Given the description of an element on the screen output the (x, y) to click on. 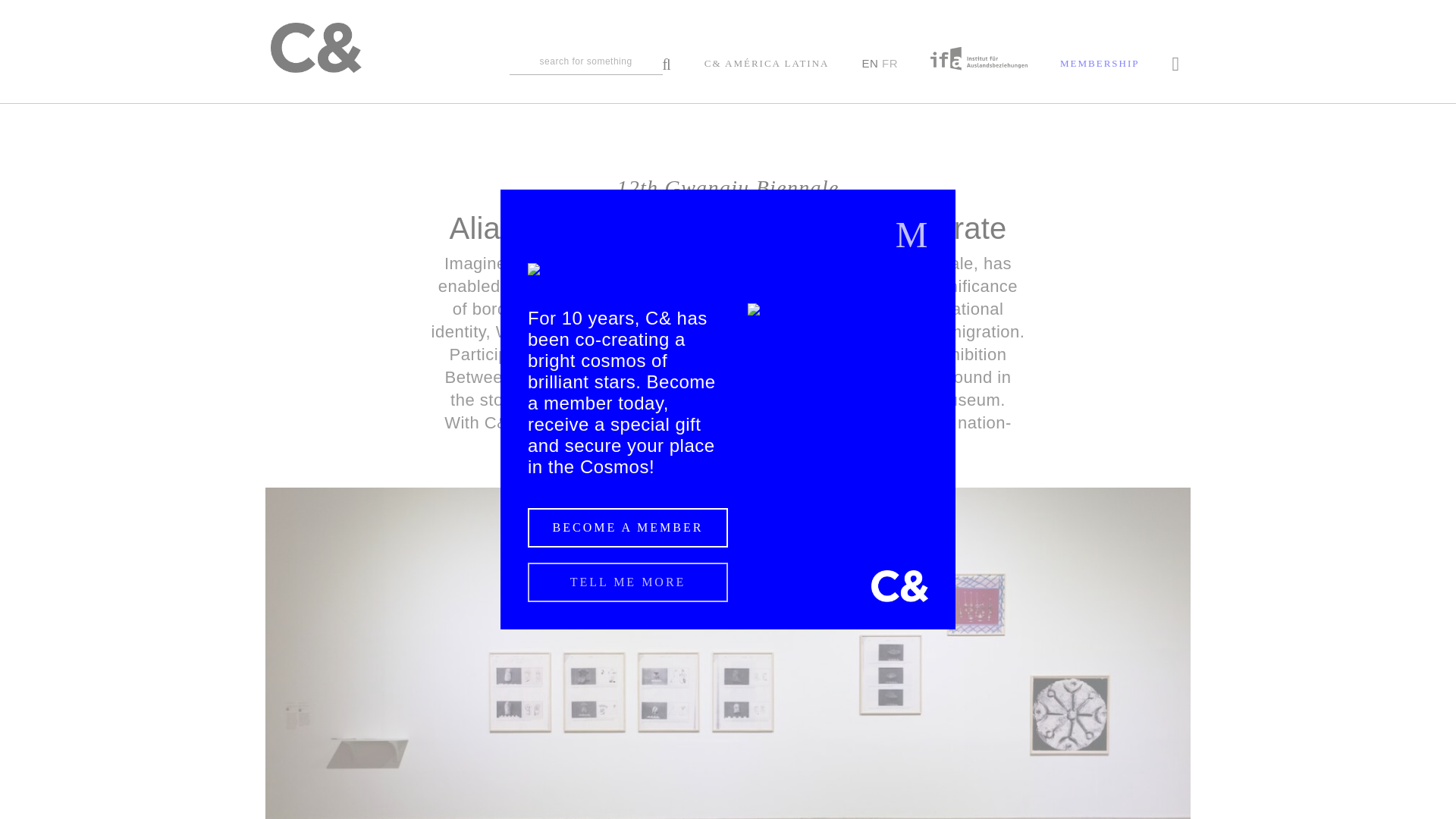
FR (890, 62)
search for something (590, 65)
EN (869, 62)
MEMBERSHIP (1099, 63)
